Given the description of an element on the screen output the (x, y) to click on. 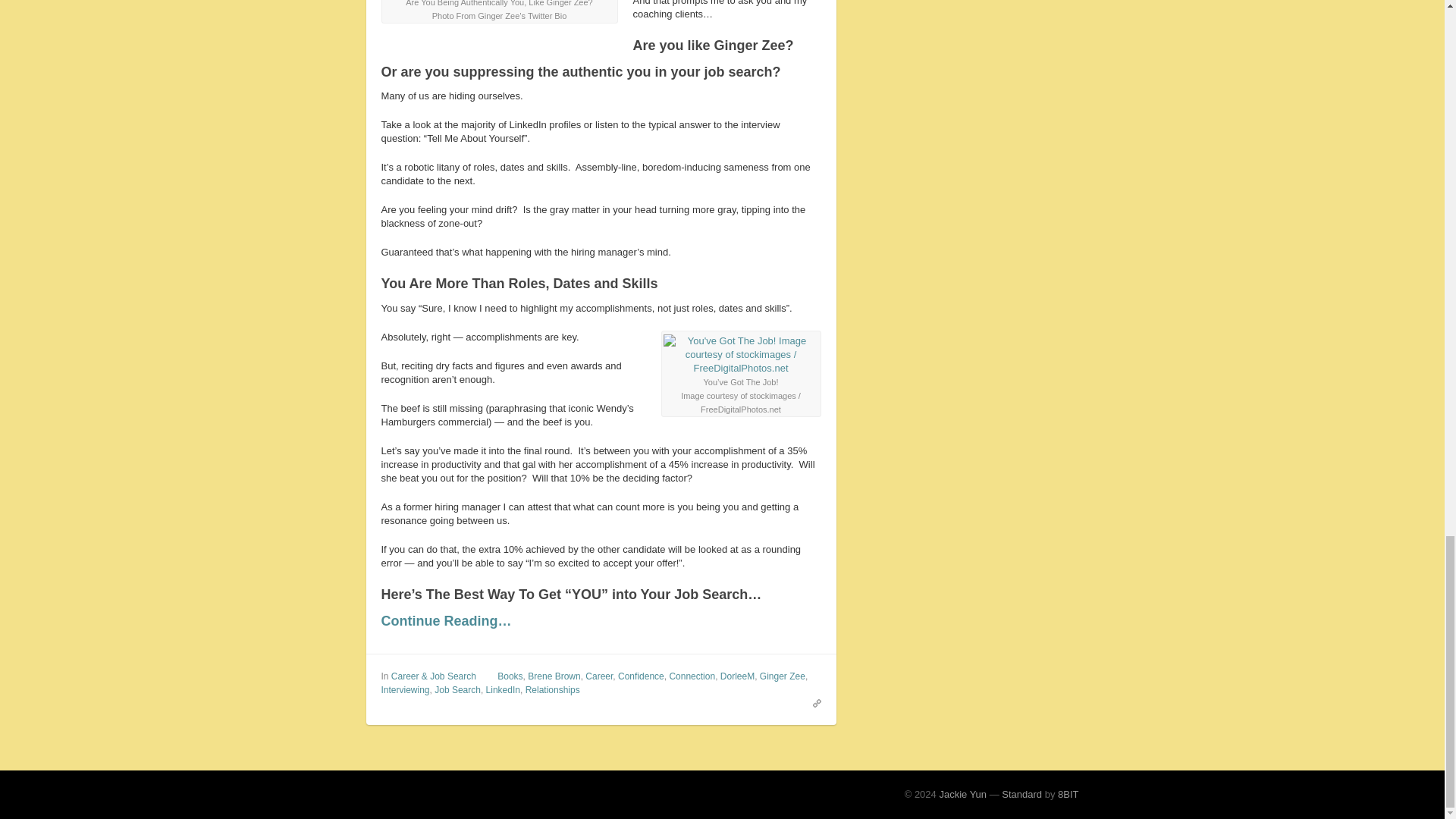
Confidence (640, 675)
Brene Brown (553, 675)
Career (598, 675)
permalink  (813, 703)
Books (509, 675)
